Given the description of an element on the screen output the (x, y) to click on. 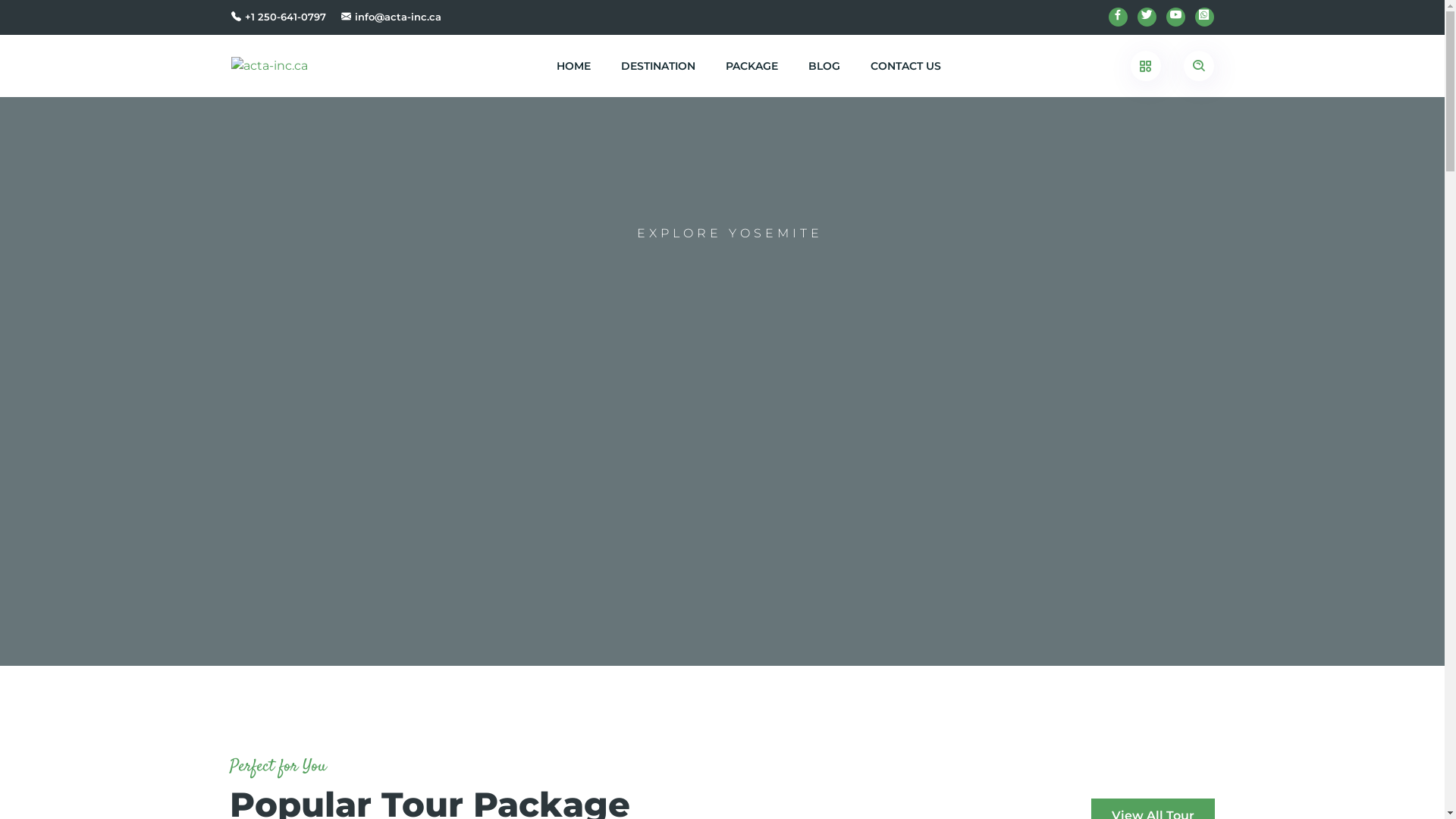
HOME Element type: text (573, 65)
BLOG Element type: text (824, 65)
DESTINATION Element type: text (657, 65)
PACKAGE Element type: text (750, 65)
+1 250-641-0797 Element type: text (284, 16)
CONTACT US Element type: text (905, 65)
info@acta-inc.ca Element type: text (397, 16)
